Given the description of an element on the screen output the (x, y) to click on. 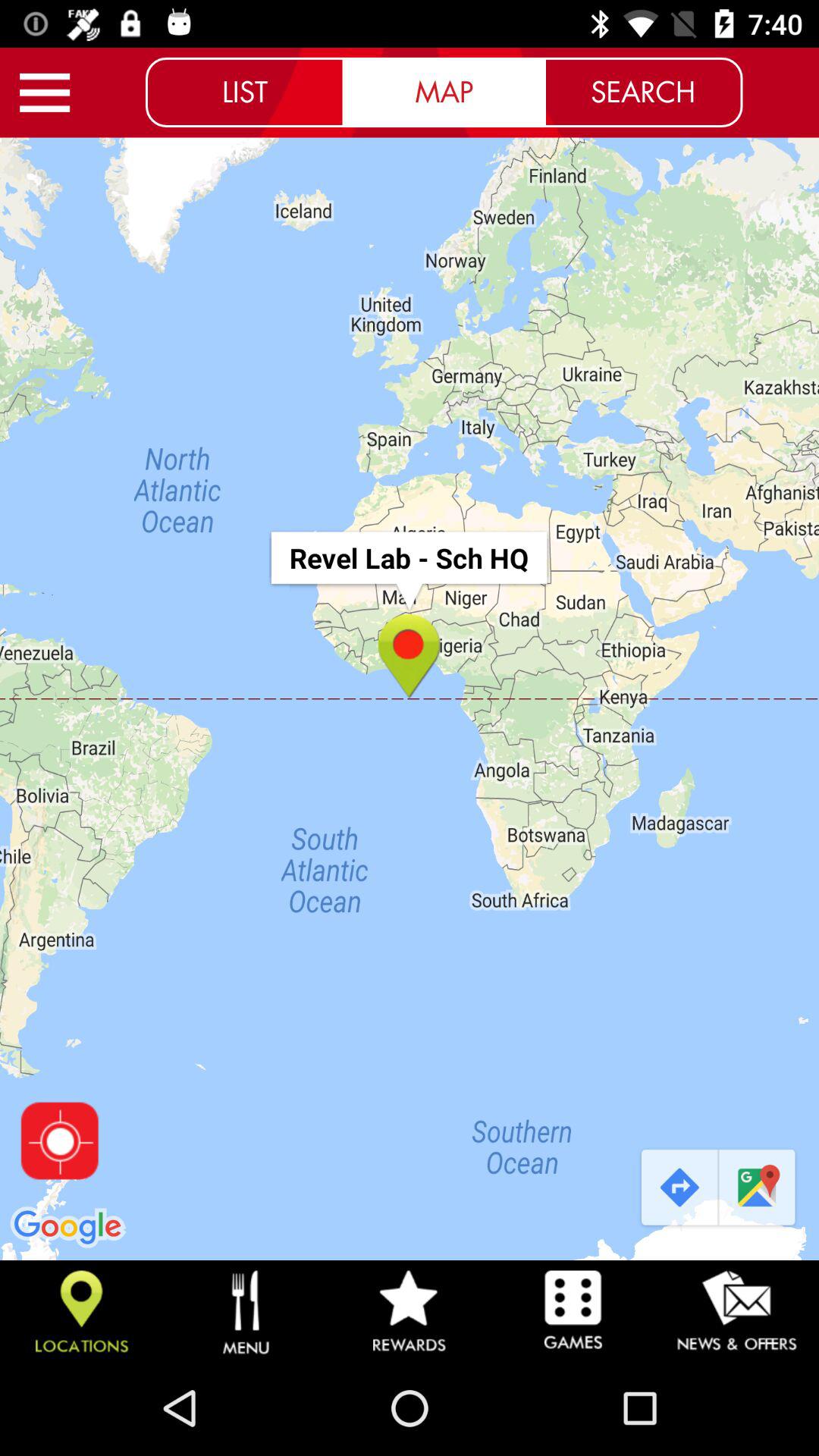
open item next to the map (642, 92)
